Given the description of an element on the screen output the (x, y) to click on. 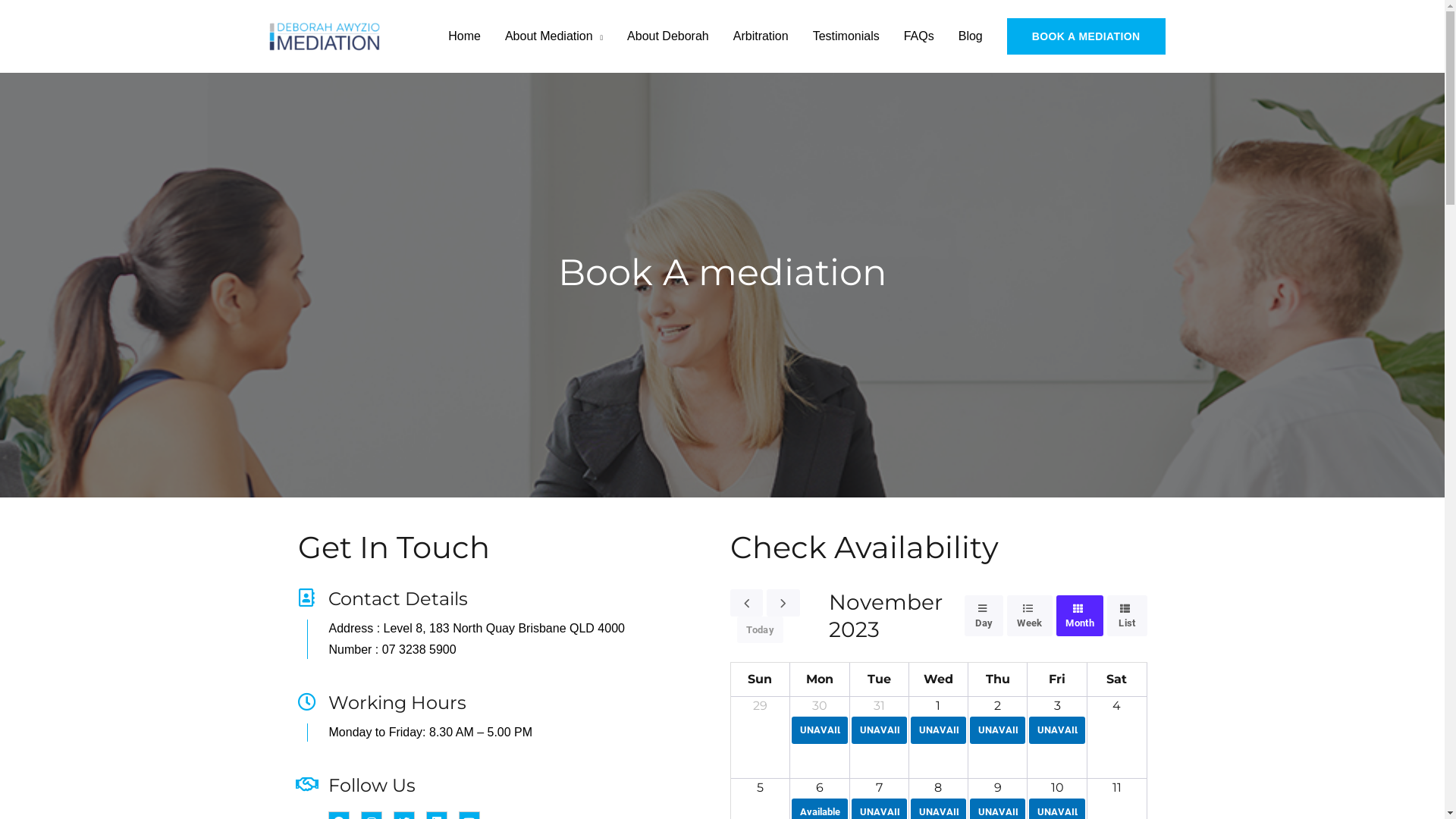
Mon Element type: text (819, 679)
Today Element type: text (760, 629)
About Mediation Element type: text (553, 36)
3 Element type: text (1057, 705)
UNAVAILABLE Element type: text (878, 729)
5 Element type: text (759, 787)
Fri Element type: text (1057, 679)
29 Element type: text (759, 705)
List Element type: text (1126, 615)
Day Element type: text (983, 615)
Tue Element type: text (878, 679)
4 Element type: text (1116, 705)
8 Element type: text (937, 787)
FAQs Element type: text (918, 36)
Thu Element type: text (997, 679)
2 Element type: text (997, 705)
Sun Element type: text (759, 679)
Home Element type: text (464, 36)
Previous month Element type: hover (745, 602)
BOOK A MEDIATION Element type: text (1086, 36)
About Deborah Element type: text (668, 36)
UNAVAILABLE Element type: text (938, 729)
UNAVAILABLE Element type: text (997, 729)
10 Element type: text (1057, 787)
9 Element type: text (997, 787)
31 Element type: text (879, 705)
Wed Element type: text (938, 679)
Testimonials Element type: text (845, 36)
Month Element type: text (1080, 615)
Next month Element type: hover (783, 602)
1 Element type: text (937, 705)
6 Element type: text (819, 787)
Sat Element type: text (1116, 679)
Week Element type: text (1029, 615)
UNAVAILABLE Element type: text (1056, 729)
UNAVAILABLE Element type: text (819, 729)
Blog Element type: text (970, 36)
30 Element type: text (819, 705)
11 Element type: text (1116, 787)
7 Element type: text (878, 787)
Arbitration Element type: text (760, 36)
